Given the description of an element on the screen output the (x, y) to click on. 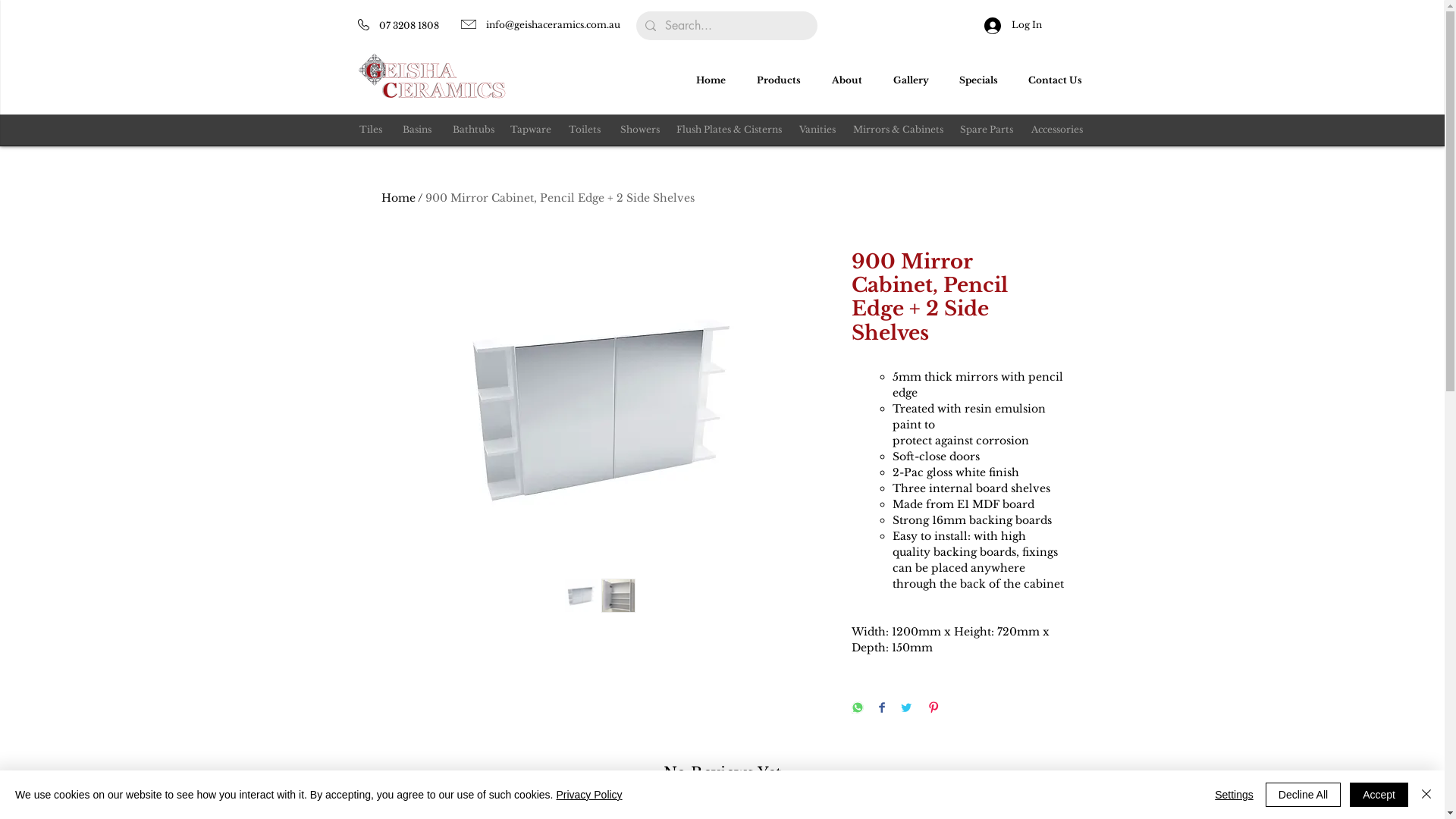
Spare Parts Element type: text (986, 129)
Tiles Element type: text (370, 129)
Accessories Element type: text (1056, 129)
Basins Element type: text (416, 129)
Flush Plates & Cisterns Element type: text (729, 129)
Products Element type: text (781, 79)
Decline All Element type: text (1302, 794)
Mirrors & Cabinets Element type: text (897, 129)
Contact Us Element type: text (1058, 79)
Showers Element type: text (639, 129)
Toilets Element type: text (584, 129)
Geisha Ceramics Element type: hover (431, 75)
Home Element type: text (397, 197)
Vanities Element type: text (816, 129)
Privacy Policy Element type: text (588, 794)
info@geishaceramics.com.au Element type: text (552, 24)
Home Element type: text (714, 79)
900 Mirror Cabinet, Pencil Edge + 2 Side Shelves Element type: text (558, 197)
Log In Element type: text (1012, 24)
About Element type: text (850, 79)
Accept Element type: text (1378, 794)
Bathtubs Element type: text (472, 129)
Gallery Element type: text (914, 79)
Specials Element type: text (981, 79)
Tapware Element type: text (529, 129)
